Given the description of an element on the screen output the (x, y) to click on. 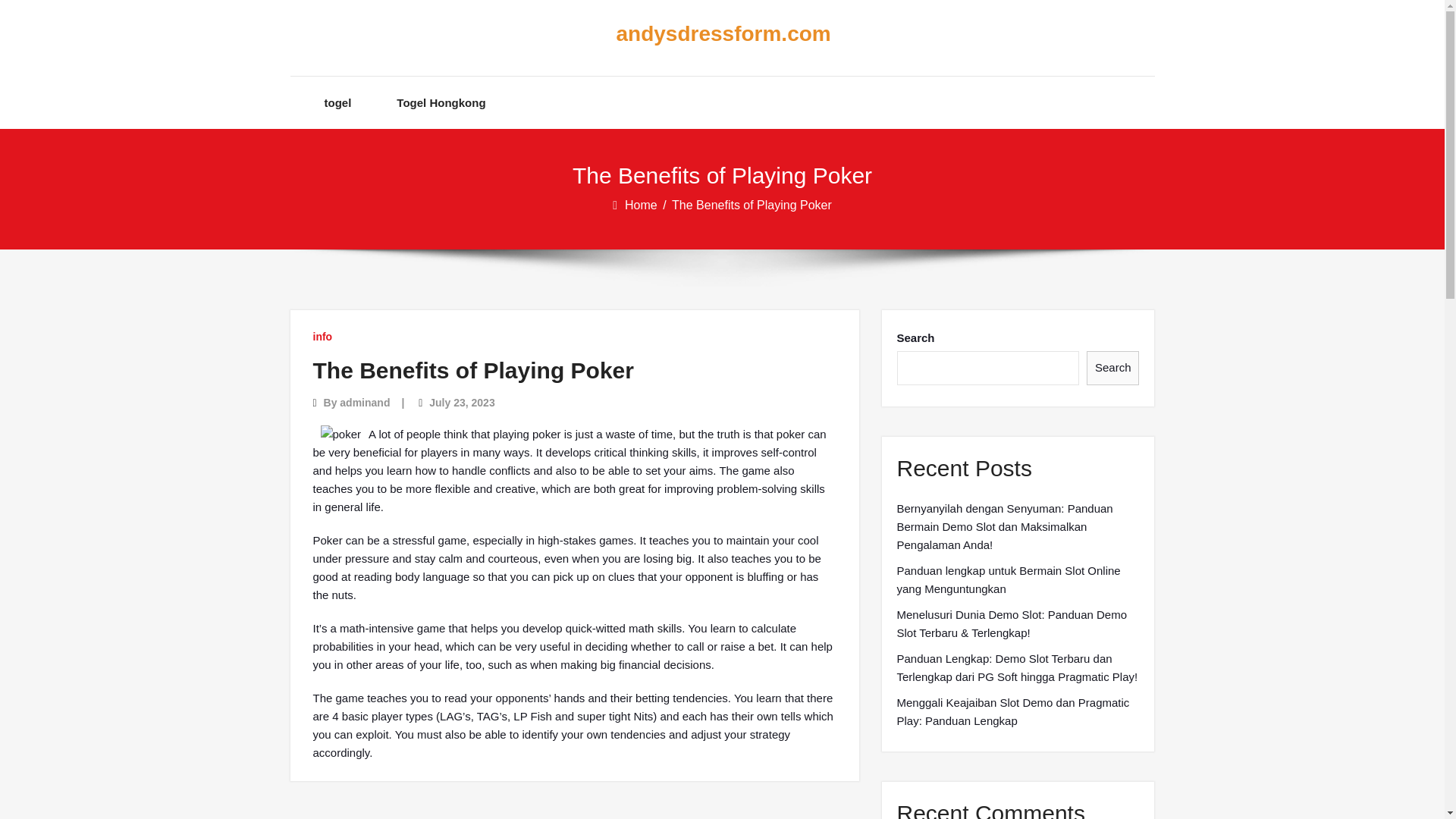
Togel Hongkong (440, 102)
info (322, 336)
adminand (364, 402)
andysdressform.com (710, 34)
Search (1113, 367)
Home (641, 205)
July 23, 2023 (462, 402)
Panduan lengkap untuk Bermain Slot Online yang Menguntungkan (1017, 579)
togel (338, 102)
